Given the description of an element on the screen output the (x, y) to click on. 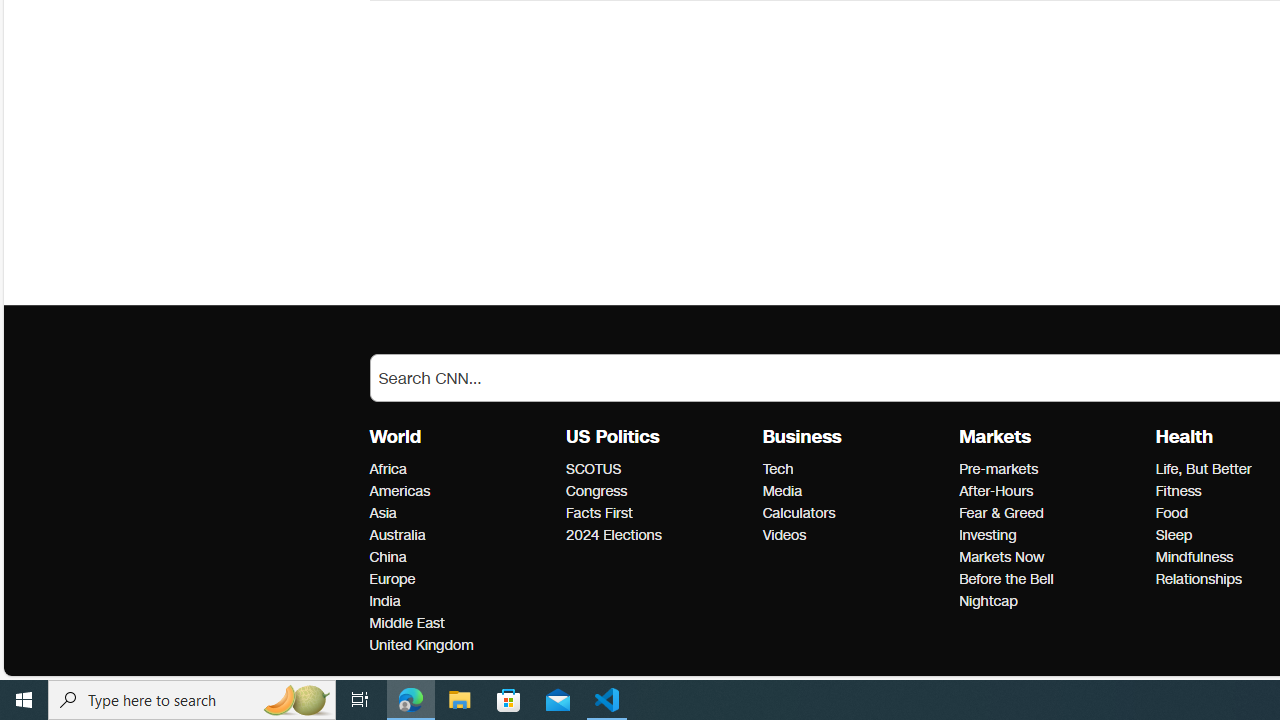
World Asia (382, 512)
Markets (994, 437)
Business Calculators (798, 512)
Africa (461, 469)
Business (801, 437)
Markets Fear & Greed (1001, 512)
Markets Before the Bell (1005, 579)
US PoliticsSCOTUSCongressFacts First2024 Elections (663, 485)
Before the Bell (1051, 579)
World India (384, 601)
Investing (1051, 536)
US Politics (612, 437)
World Africa (387, 469)
Health (1183, 437)
Tech (854, 469)
